Given the description of an element on the screen output the (x, y) to click on. 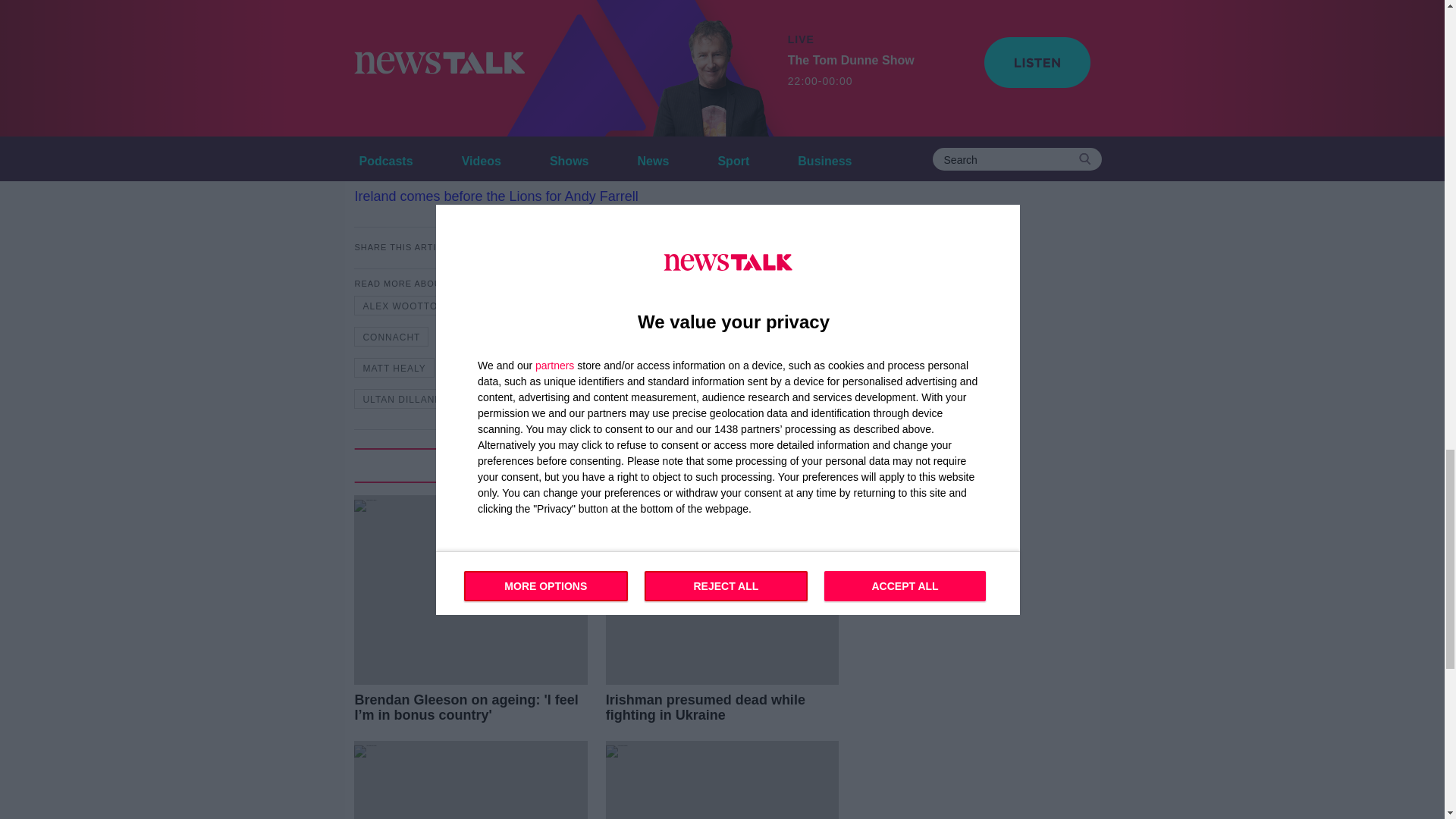
CAOLIN BLADE (709, 305)
BUNDEE AKI (609, 305)
Ireland comes before the Lions for Andy Farrell (495, 196)
ALEX WOOTTON (402, 305)
ANDY FRIEND (511, 305)
